Given the description of an element on the screen output the (x, y) to click on. 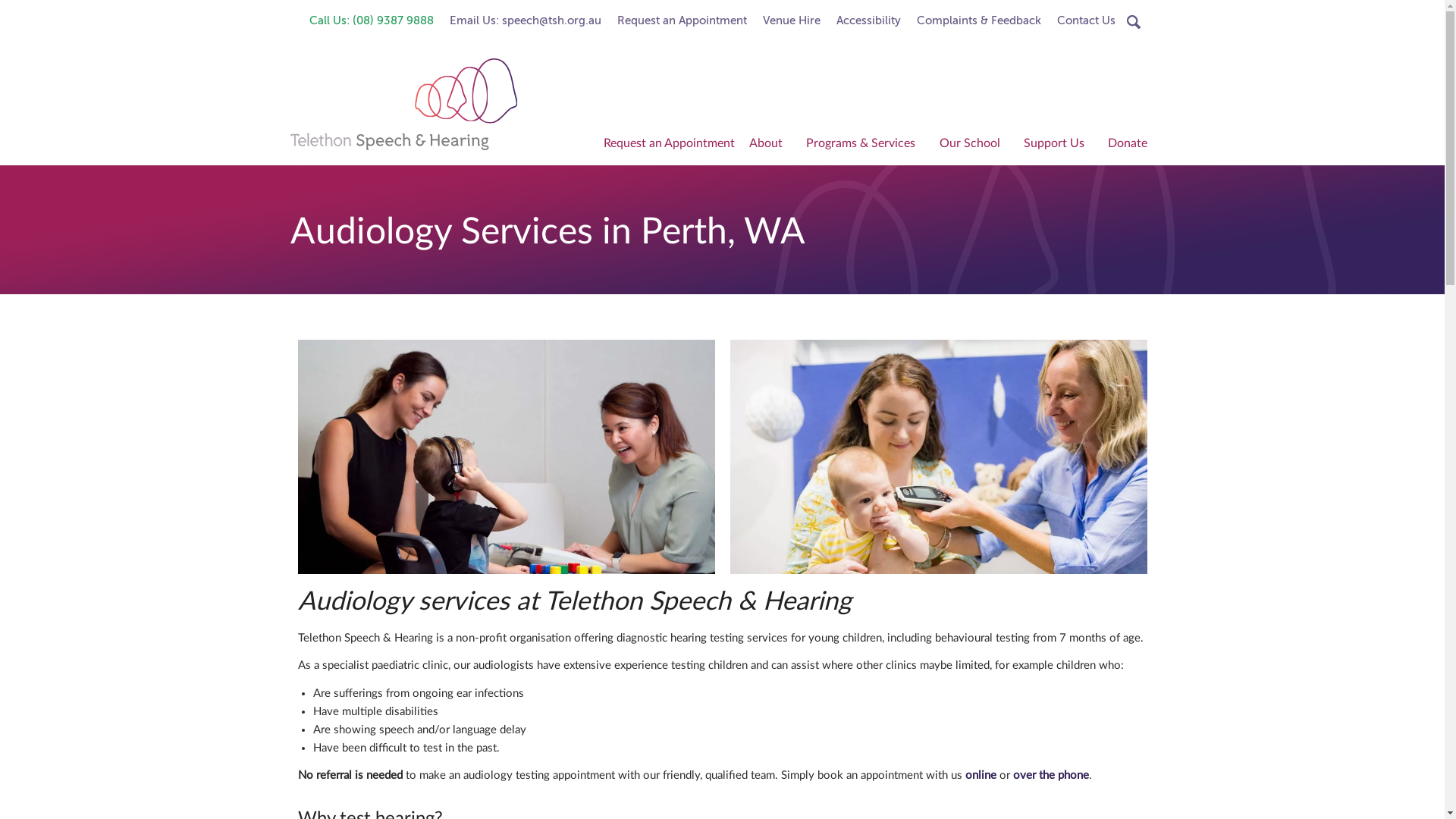
Contact Us Element type: text (1086, 20)
Careers Element type: text (770, 395)
Newborn Hearing Screening Element type: text (732, 219)
Publications Element type: text (770, 370)
Venue Hire Element type: text (865, 370)
Venue Hire Element type: text (791, 20)
Support Us Element type: text (1058, 144)
Library Element type: text (973, 194)
Fee Relief Element type: text (973, 295)
Senior Leadership Team Element type: text (770, 295)
Accessibility Element type: text (868, 20)
Latest News & Stories Element type: text (770, 169)
Family Support Element type: text (973, 169)
Power of Speech 2023 Element type: text (889, 270)
Compliments & Complaints: TSH Element type: text (713, 420)
over the phone Element type: text (1050, 775)
Supporters Element type: text (713, 345)
Paediatric Services Element type: text (732, 194)
Lucky Sip Wine Raffle Element type: text (1058, 245)
Loud Shirt Day Element type: text (1058, 219)
About Element type: text (770, 144)
TSH Occupational Therapy Clinic Element type: text (865, 320)
TSH Board Element type: text (770, 270)
NDIS at TSH Element type: text (865, 169)
Language Support Groups Element type: text (973, 270)
Chatterbox (Early Intervention Hearing Loss Program) Element type: text (732, 270)
Our Purpose & Values Element type: text (770, 219)
Our School Element type: text (973, 144)
Delayed Speech & Language Development in Children Element type: text (865, 245)
Chevron Pilbara Ear Health Program Element type: text (865, 219)
Major Partners Element type: text (770, 320)
TSH Speech Pathology Clinic Element type: text (865, 345)
Donate Your Day Element type: text (1058, 169)
Email Us: speech@tsh.org.au Element type: text (525, 20)
Audiology Services in Perth, WA Element type: text (865, 194)
Make a Difference Lottery Element type: text (1058, 270)
Hearing Services for Newborn Baby Element type: text (732, 295)
Call Us: (08) 9387 9888 Element type: text (371, 20)
Hearing Services for School-Aged Children Element type: text (732, 345)
Donate Element type: text (1127, 144)
Cochlear Implant Program Element type: text (732, 245)
Events Element type: text (1058, 194)
Contact Us Element type: text (770, 420)
Outpost Partnered Schools Element type: text (889, 219)
Workplace Giving Element type: text (1058, 320)
Hearing Loss in Children Element type: text (865, 270)
Child Safety at TSH Element type: text (770, 245)
Volunteer Element type: text (1058, 345)
Request an Appointment Element type: text (669, 144)
Complaints & Feedback Element type: text (978, 20)
First Voice Alliance Element type: text (713, 320)
Search Element type: text (20, 7)
online Element type: text (979, 775)
Our School Community Element type: text (889, 245)
Our History Element type: text (770, 194)
Request an Appointment Element type: text (681, 20)
Research Element type: text (770, 345)
Programs & Services Element type: text (865, 144)
Links Element type: text (713, 370)
Wills & Bequests Element type: text (1058, 295)
Hearing Services for Pre-School Children Element type: text (732, 320)
